Given the description of an element on the screen output the (x, y) to click on. 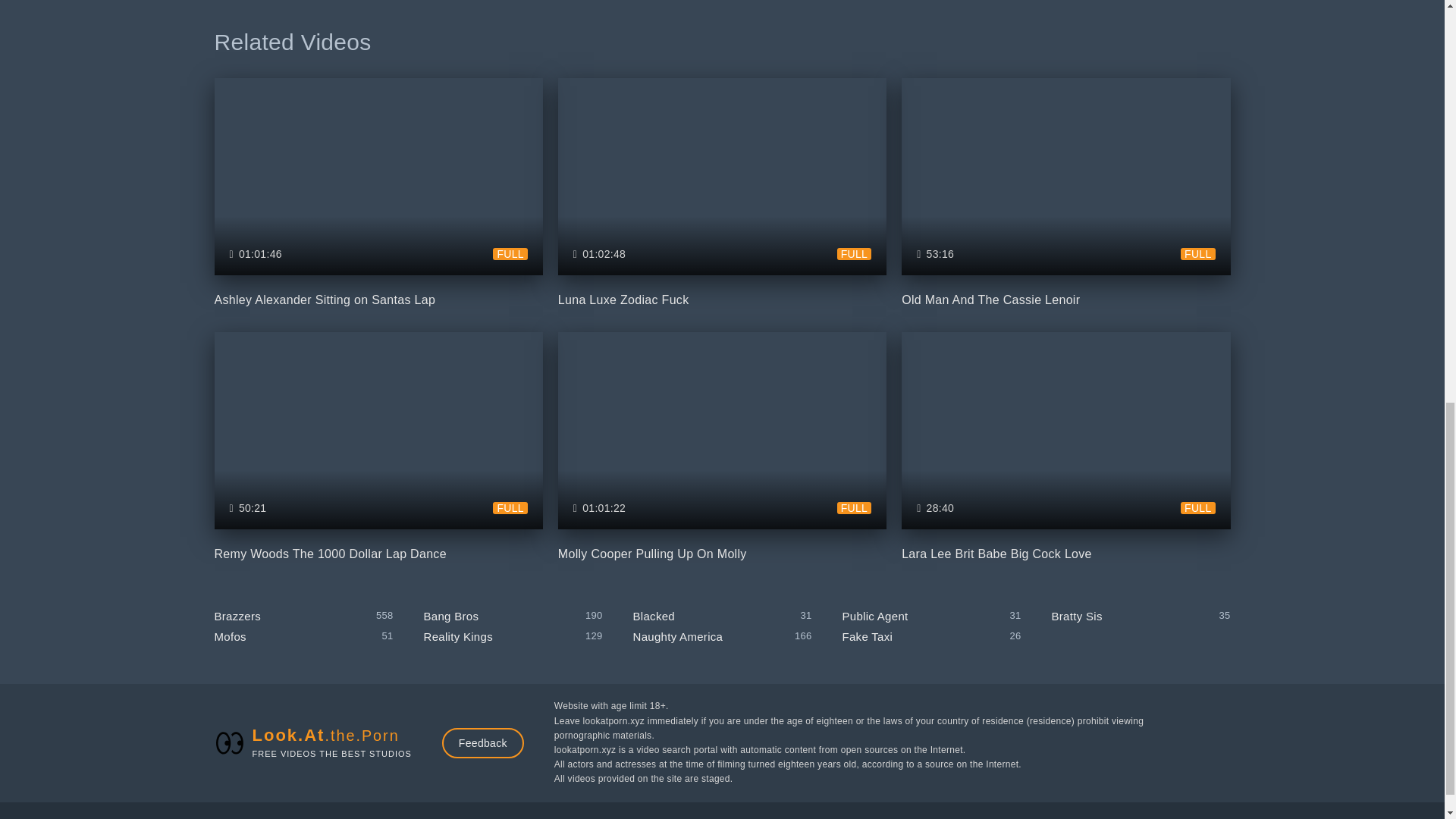
Bang Bros (1065, 193)
Mofos (512, 615)
LiveInternet (377, 193)
Brazzers (721, 193)
Reality Kings (721, 448)
